Given the description of an element on the screen output the (x, y) to click on. 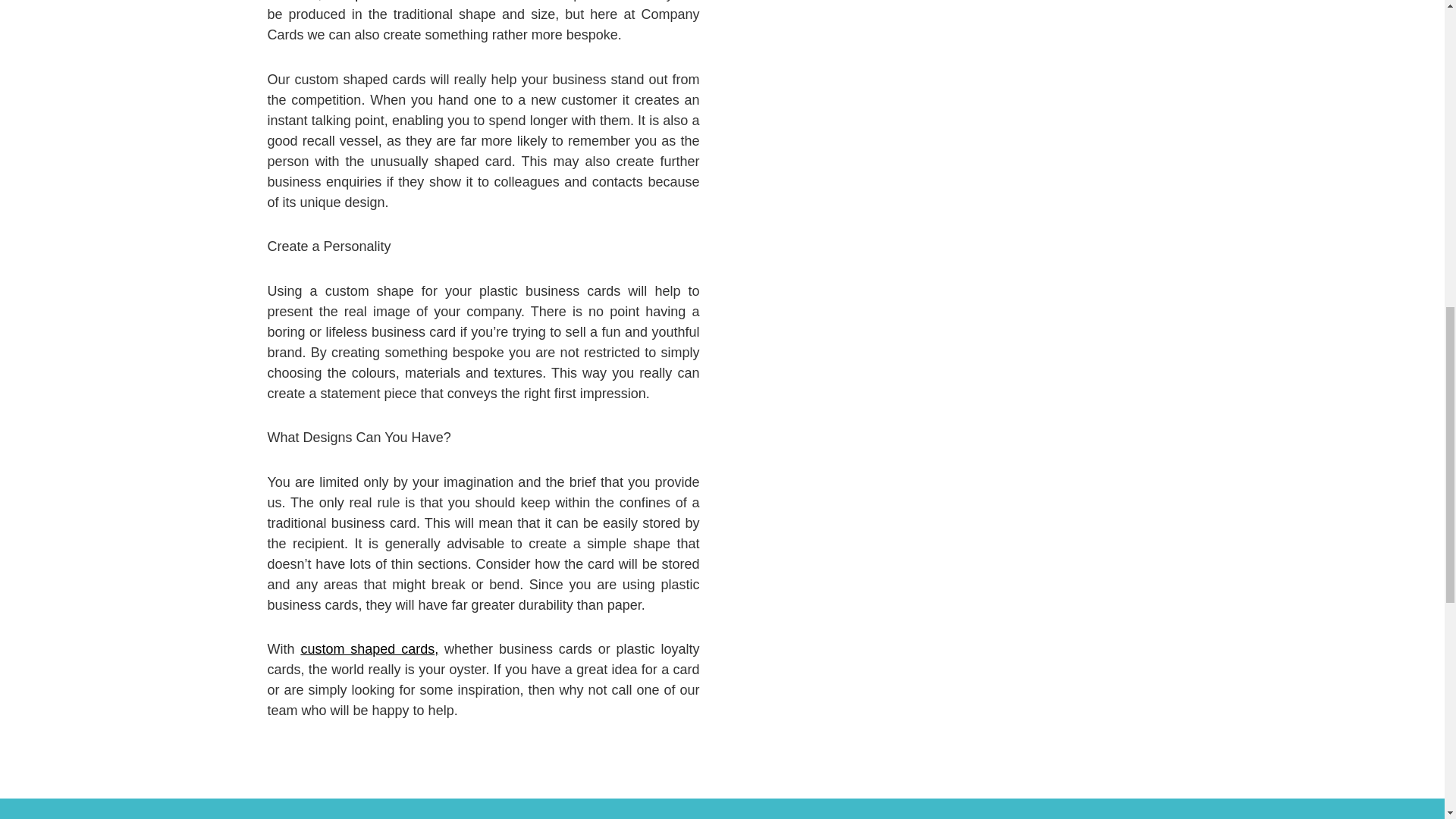
plastic business cards (422, 0)
custom shaped cards, (368, 648)
